Given the description of an element on the screen output the (x, y) to click on. 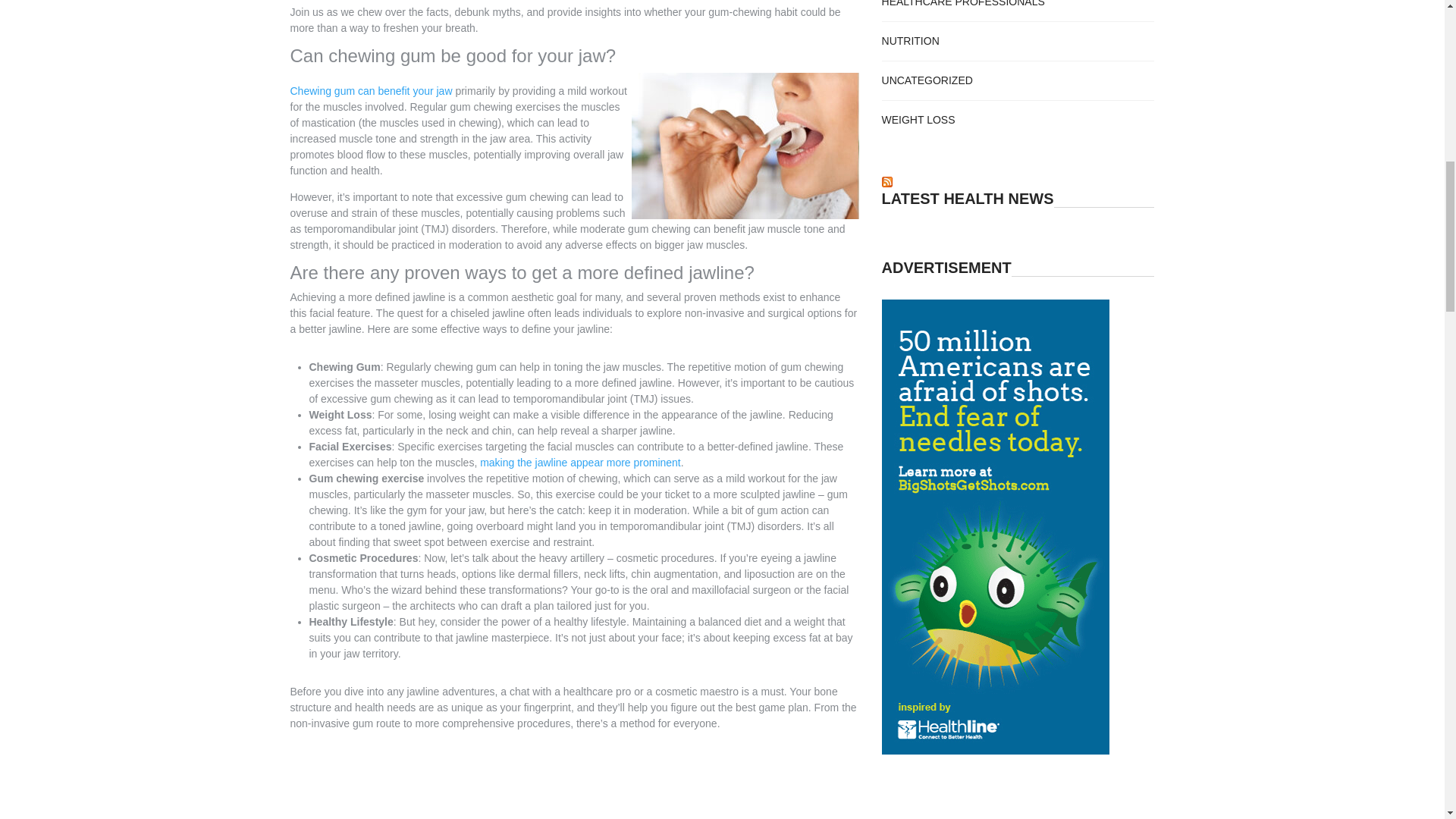
UNCATEGORIZED (927, 80)
Chewing gum can benefit your jaw (370, 94)
Blogs about nutrition and healthy eating. (910, 40)
making the jawline appear more prominent (580, 465)
WEIGHT LOSS (918, 119)
Weight Loss blogs (918, 119)
HEALTHCARE PROFESSIONALS (963, 3)
YouTube video player (574, 780)
NUTRITION (910, 40)
